Given the description of an element on the screen output the (x, y) to click on. 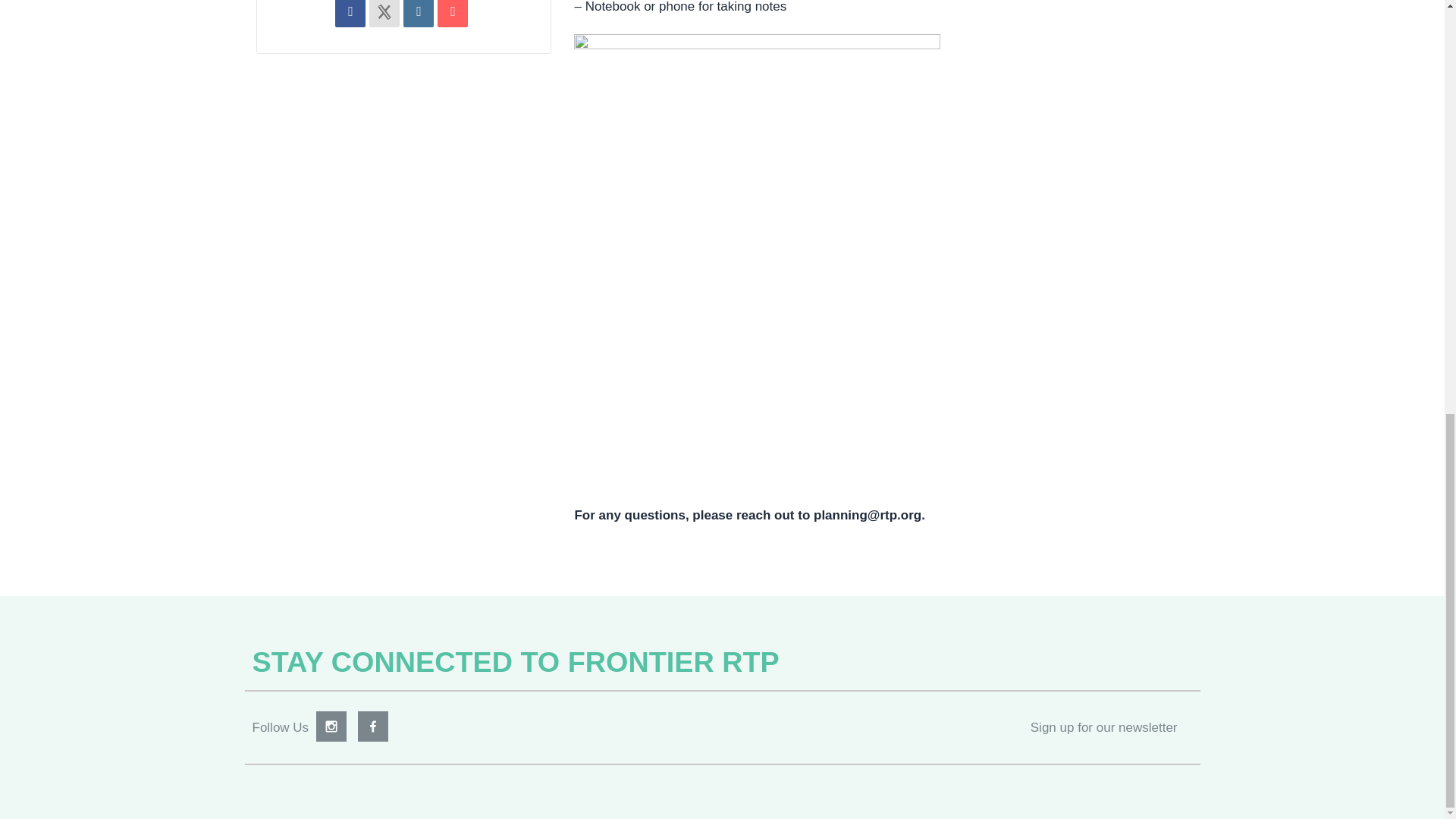
Email (452, 12)
X Social Network (383, 12)
Linkedin (418, 12)
Share on Facebook (349, 12)
Instagram (330, 726)
Facebook (373, 726)
